Given the description of an element on the screen output the (x, y) to click on. 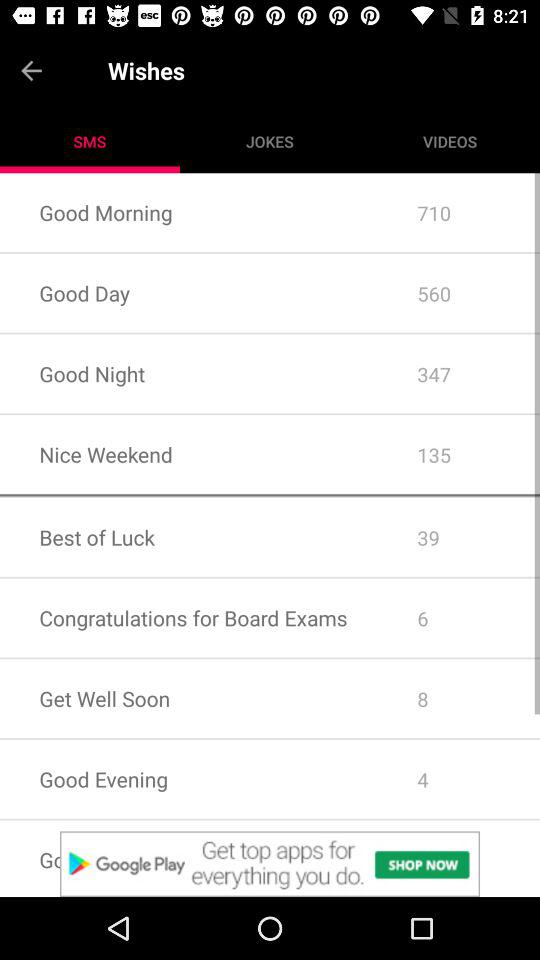
click to shop on google play (270, 864)
